Given the description of an element on the screen output the (x, y) to click on. 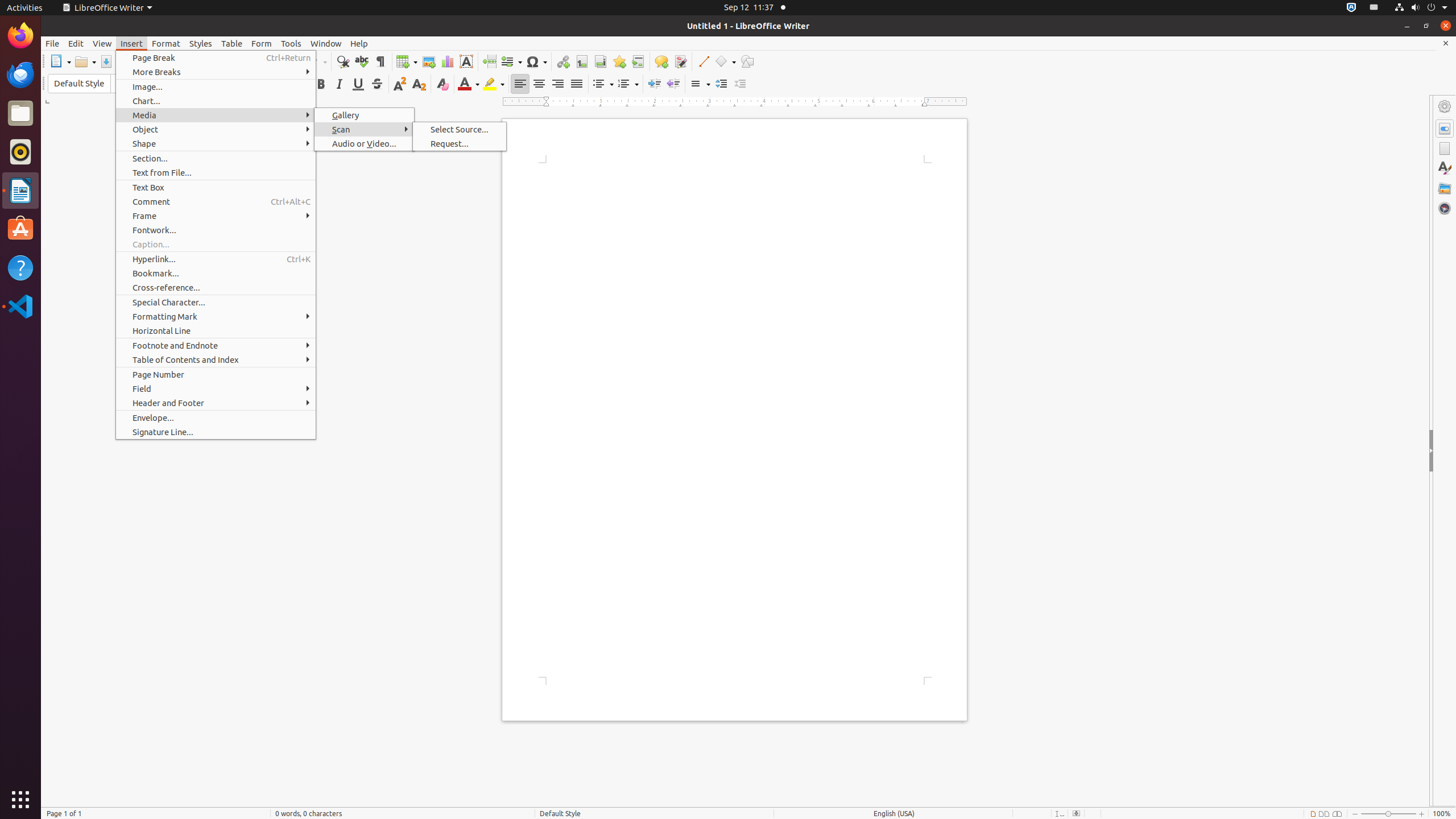
Insert Element type: menu (131, 43)
Tools Element type: menu (290, 43)
Justified Element type: toggle-button (576, 83)
View Element type: menu (102, 43)
Thunderbird Mail Element type: push-button (20, 74)
